Given the description of an element on the screen output the (x, y) to click on. 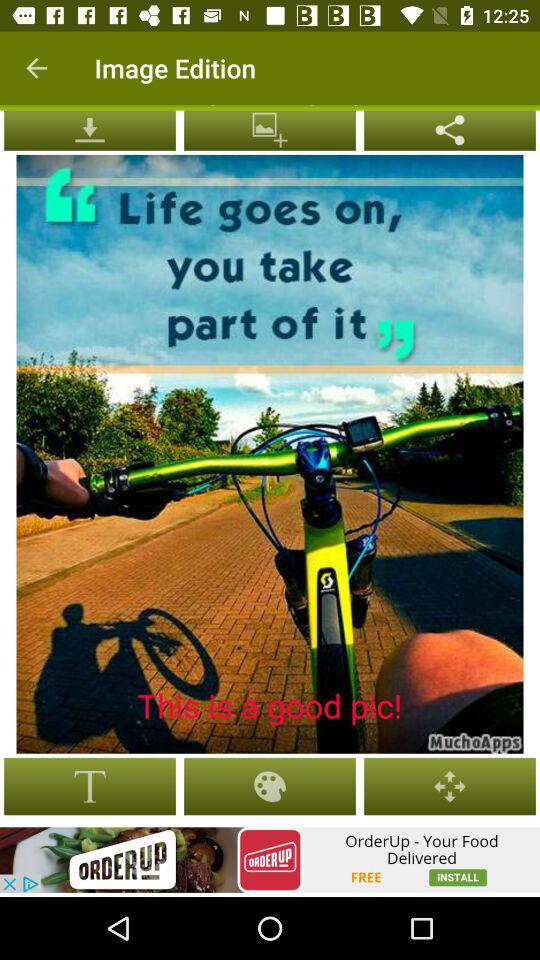
view advertisement (270, 859)
